Given the description of an element on the screen output the (x, y) to click on. 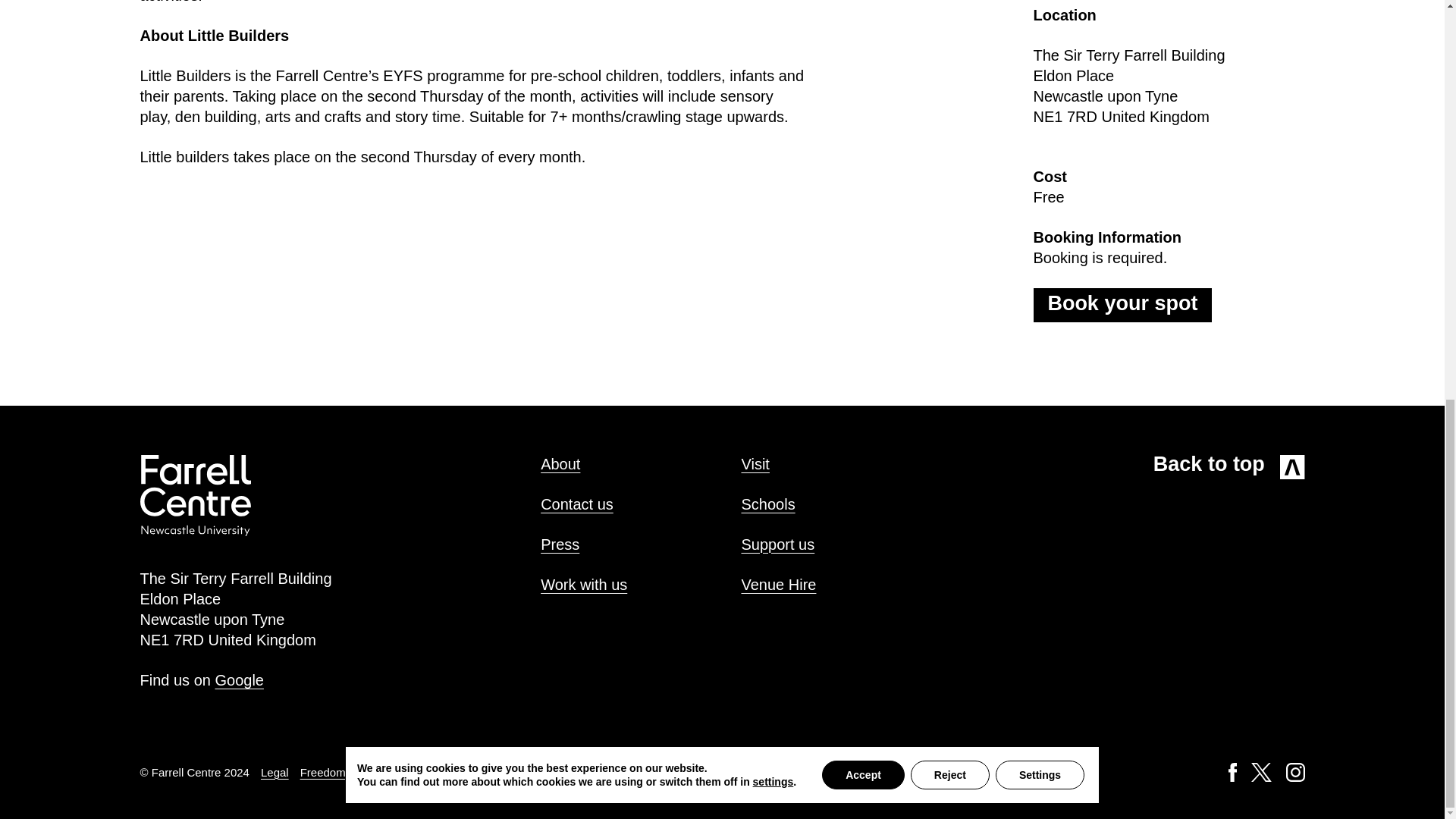
About (559, 463)
Support us (777, 544)
Book your spot (1121, 305)
Google (238, 679)
Visit (754, 463)
Privacy Policy (464, 771)
Cookie Policy (546, 771)
Farrell Centre home page (194, 530)
Back to top of page (1228, 467)
Press (559, 544)
Schools (767, 504)
Freedom of Information (359, 771)
Back to top (1228, 467)
Cookie Preferences (642, 771)
Legal (274, 771)
